Given the description of an element on the screen output the (x, y) to click on. 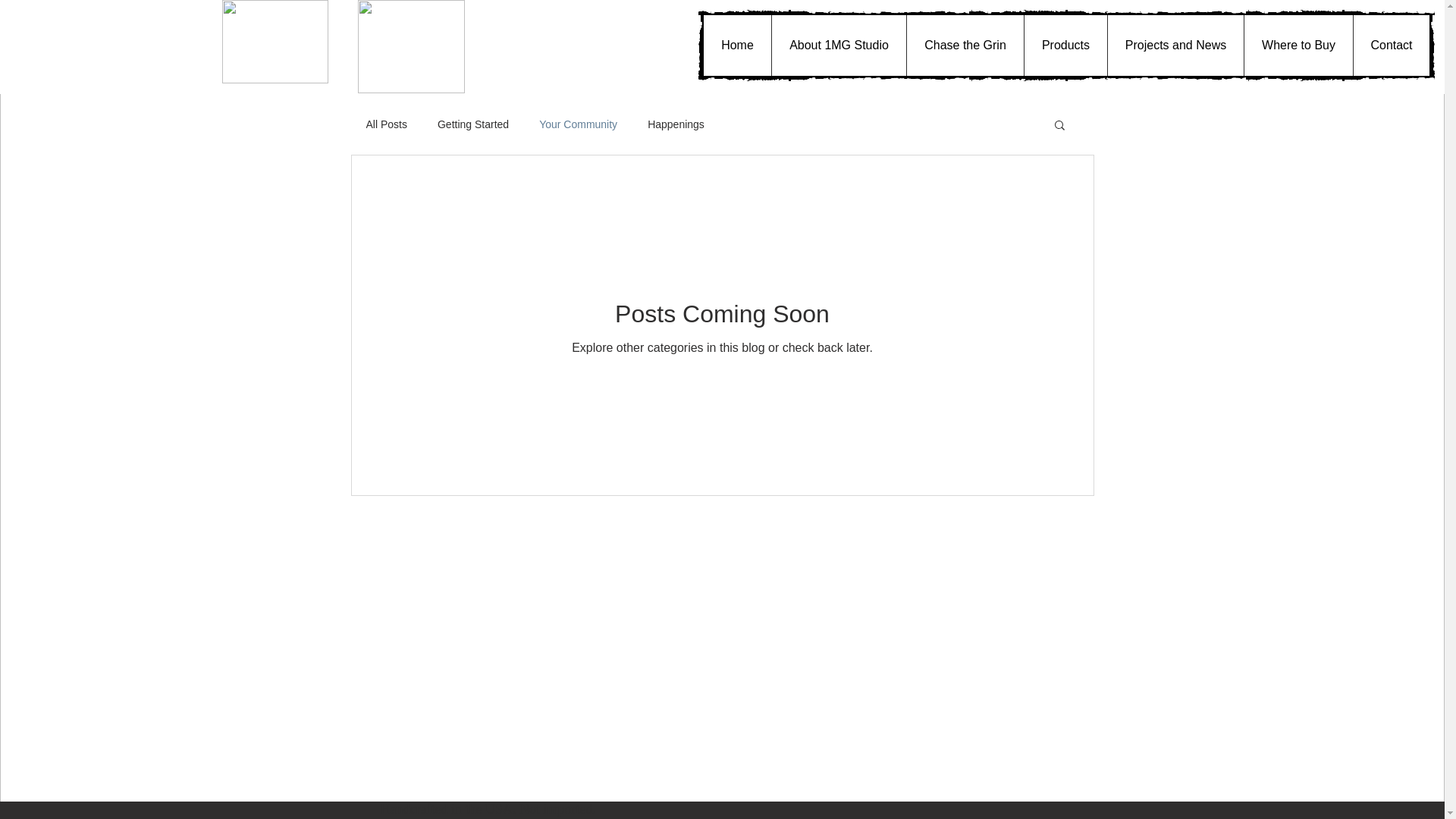
Projects and News Element type: text (1175, 45)
Products Element type: text (1065, 45)
Your Community Element type: text (578, 124)
Getting Started Element type: text (472, 124)
About 1MG Studio Element type: text (838, 45)
Chase the Grin Element type: text (964, 45)
Where to Buy Element type: text (1297, 45)
Home Element type: text (737, 45)
0 Element type: text (1079, 44)
All Posts Element type: text (385, 124)
Contact Element type: text (1390, 45)
Happenings Element type: text (675, 124)
Log In Element type: text (1012, 45)
